Given the description of an element on the screen output the (x, y) to click on. 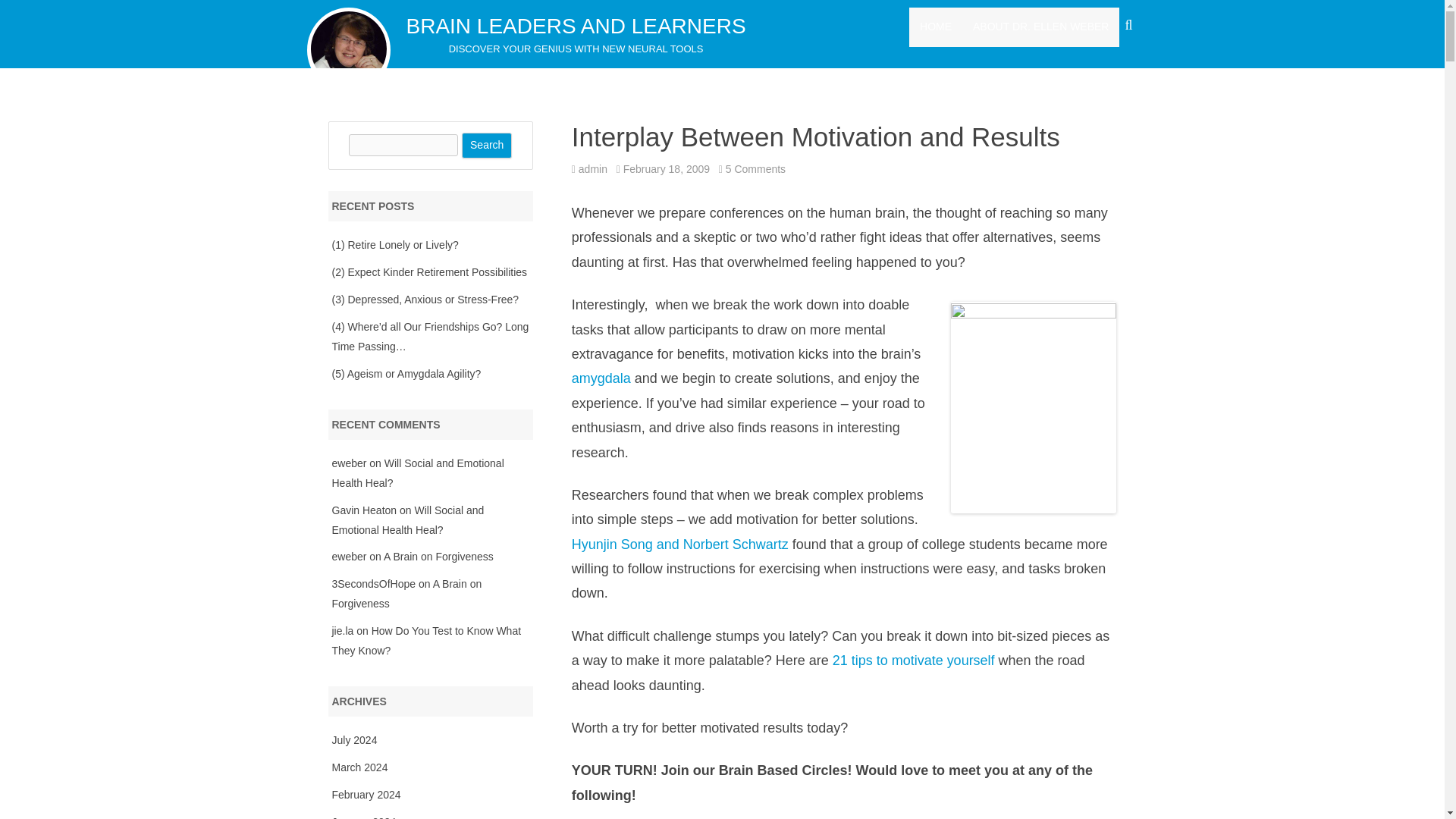
amygdala (601, 378)
BRAIN LEADERS AND LEARNERS (755, 168)
Hyunjin Song and Norbert Schwartz (575, 26)
admin (682, 544)
ABOUT DR. ELLEN WEBER (592, 168)
Brain Leaders And Learners (1040, 26)
21 tips to motivate yourself (575, 26)
Search (915, 660)
